Given the description of an element on the screen output the (x, y) to click on. 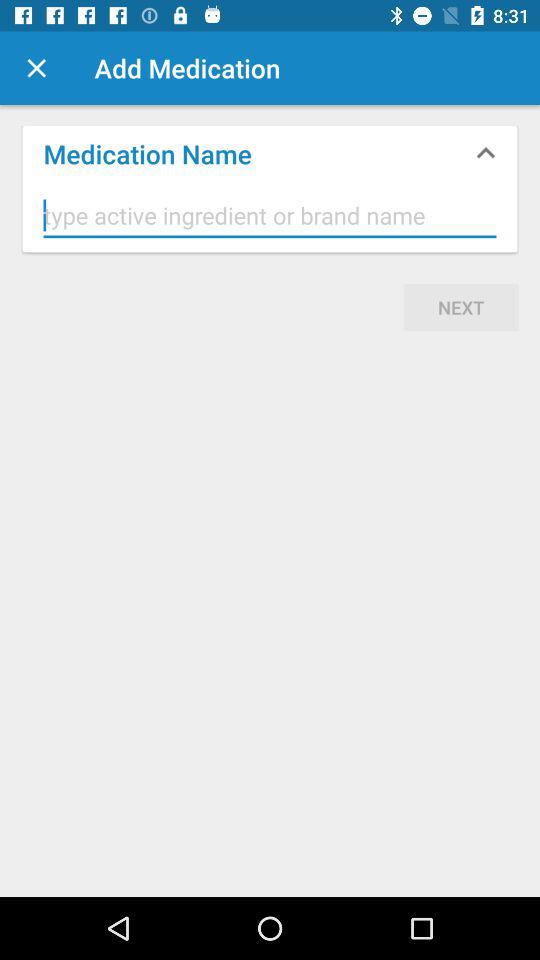
tap icon above next item (269, 216)
